Given the description of an element on the screen output the (x, y) to click on. 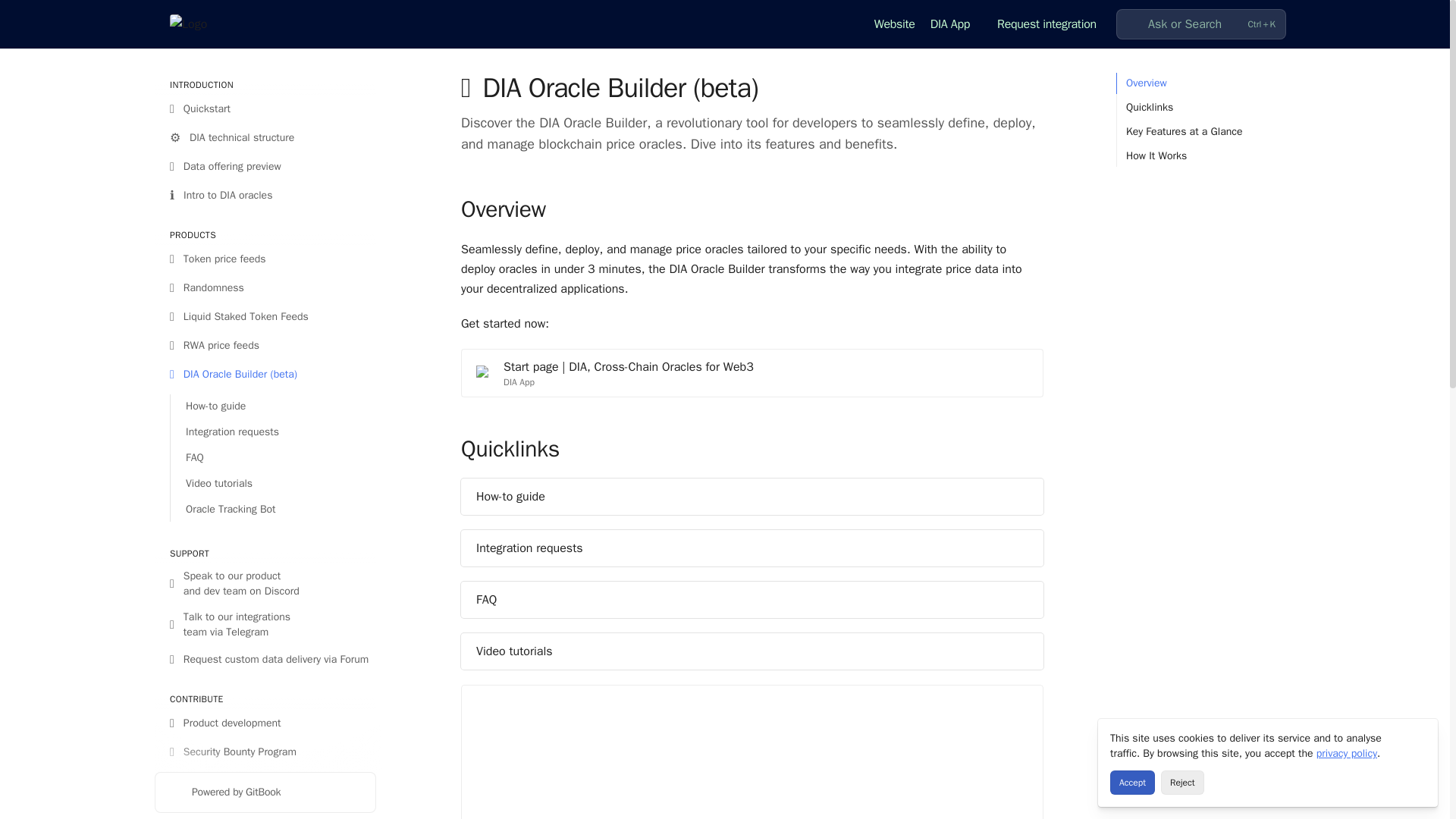
Close (1419, 737)
Request integration (1046, 24)
DIA App (1200, 433)
Website (955, 24)
